Given the description of an element on the screen output the (x, y) to click on. 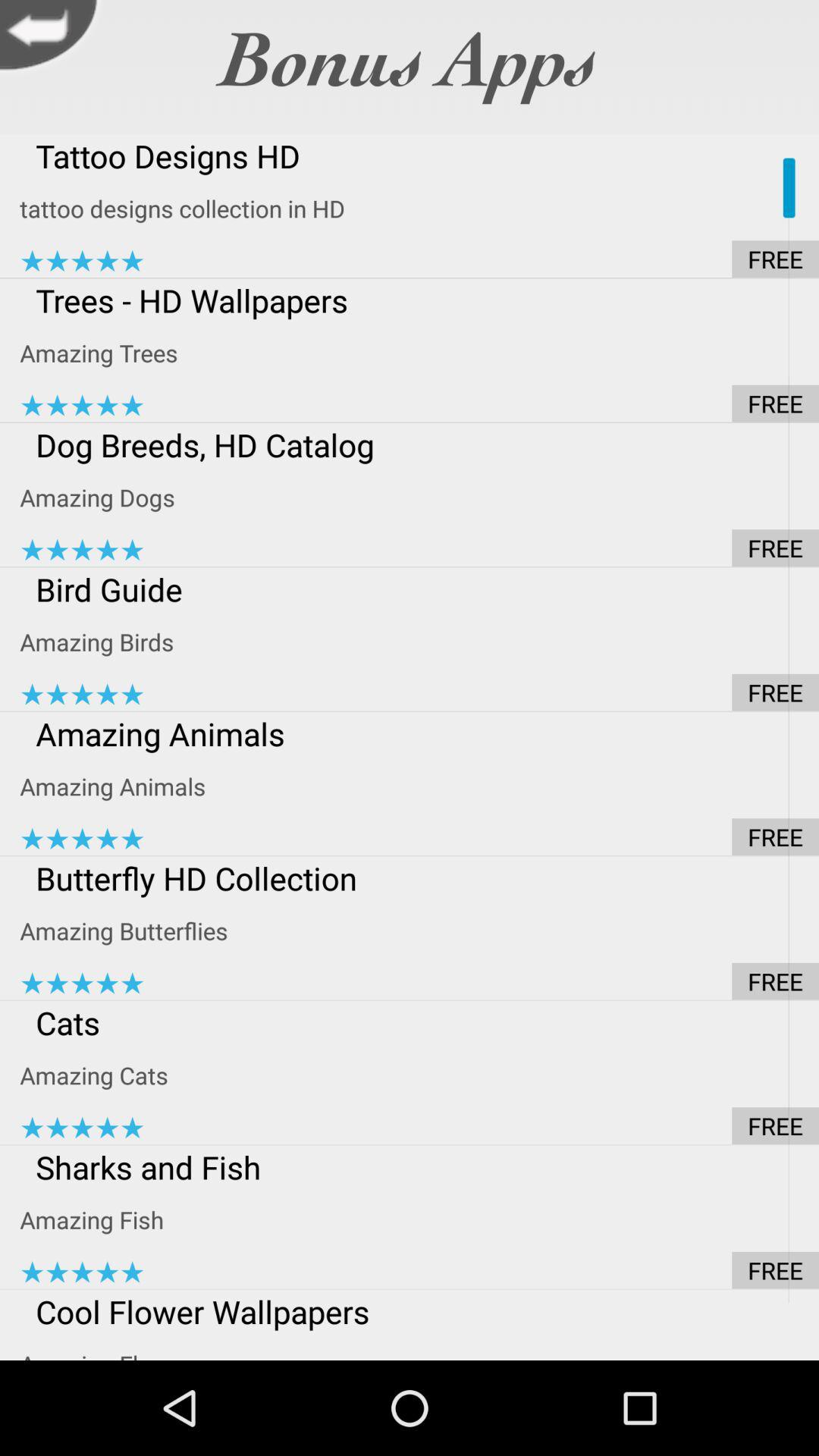
press icon below the   butterfly hd collection  item (419, 930)
